Given the description of an element on the screen output the (x, y) to click on. 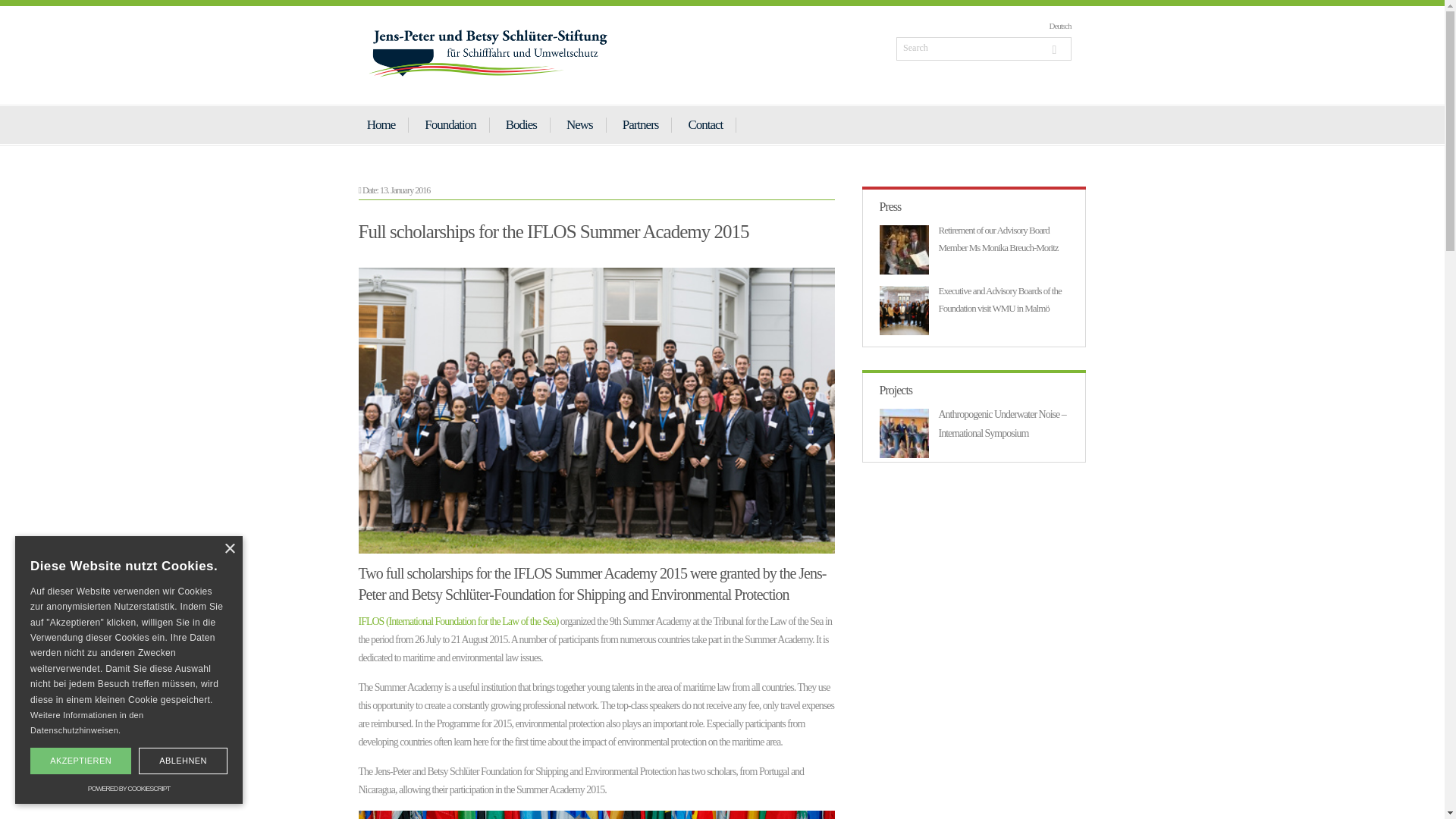
News (580, 124)
POWERED BY COOKIESCRIPT (128, 788)
Contact (705, 124)
Partners (641, 124)
Consent Management Platform (128, 788)
Search (983, 48)
Deutsch (1059, 25)
Home (381, 124)
Weitere Informationen in den Datenschutzhinweisen. (86, 722)
Bodies (521, 124)
Foundation (450, 124)
